Given the description of an element on the screen output the (x, y) to click on. 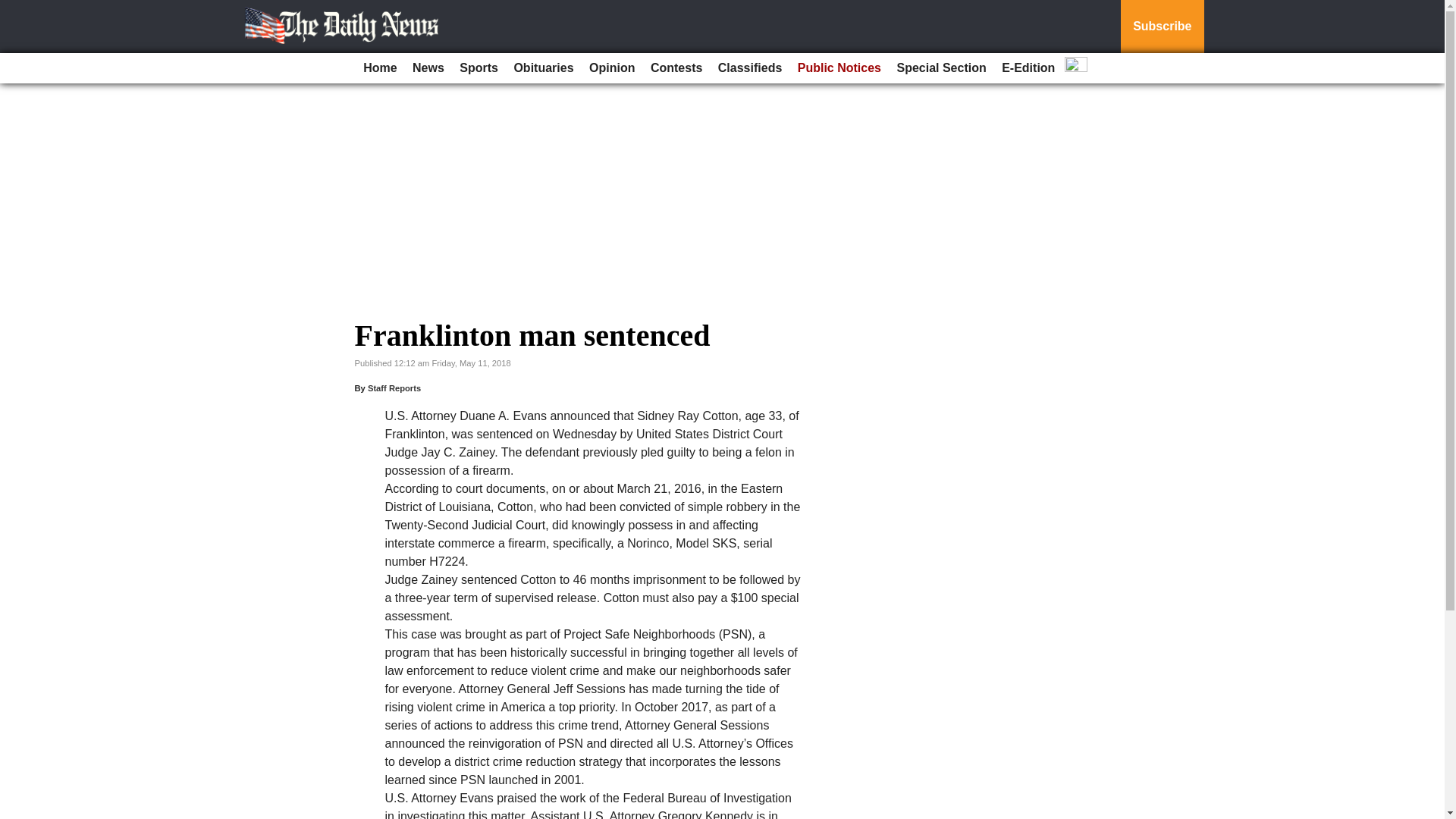
Contests (676, 68)
News (427, 68)
Opinion (611, 68)
Sports (477, 68)
Subscribe (1162, 26)
Public Notices (839, 68)
Home (379, 68)
Go (13, 9)
Staff Reports (394, 388)
Special Section (940, 68)
